Given the description of an element on the screen output the (x, y) to click on. 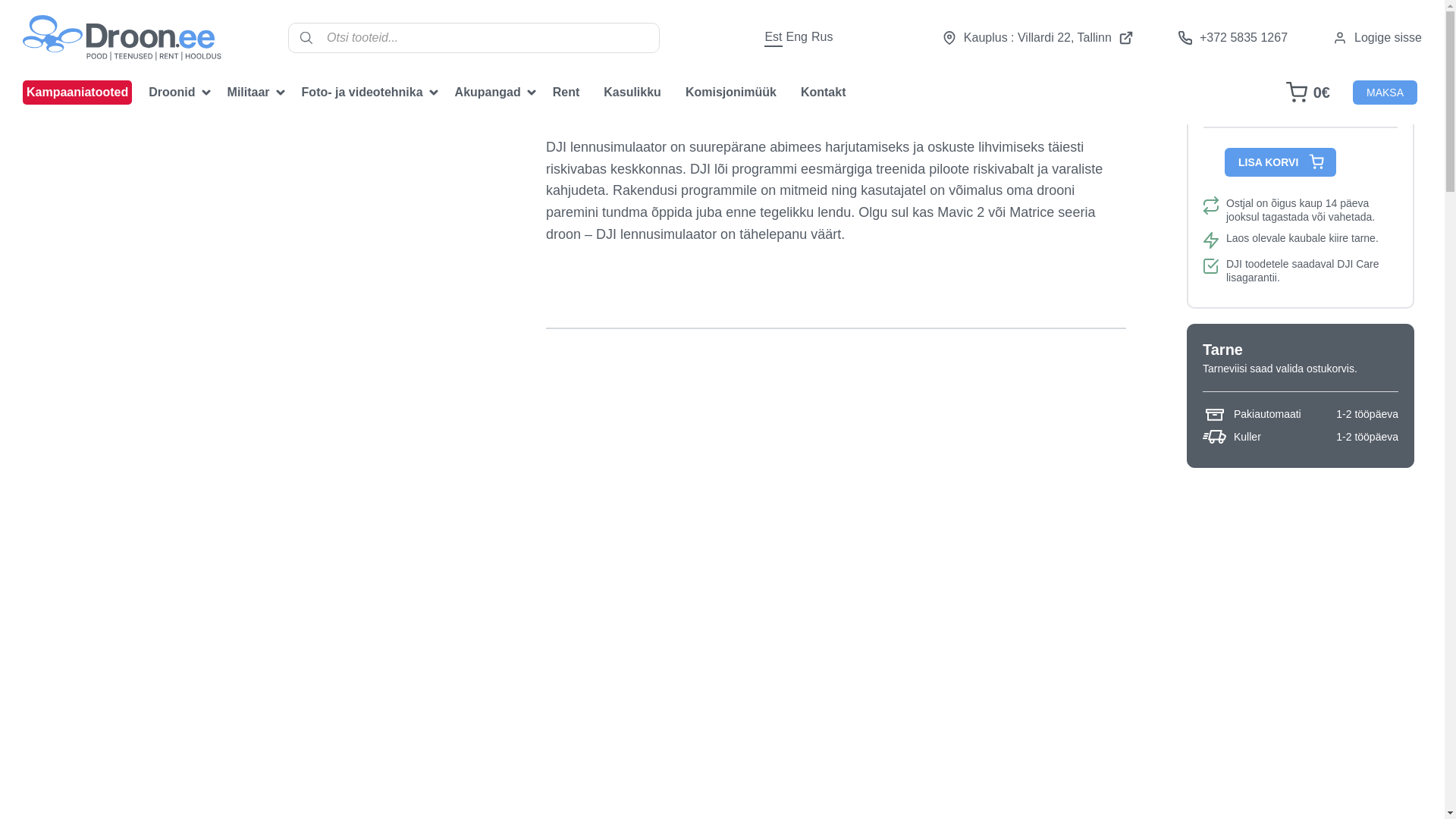
Rus (821, 37)
Droonid (175, 92)
Est (772, 37)
Logige sisse (1377, 38)
Droon.ee (122, 53)
Eng (797, 37)
Kampaaniatooted (77, 92)
Kauplus : Villardi 22, Tallinn (1037, 38)
